Given the description of an element on the screen output the (x, y) to click on. 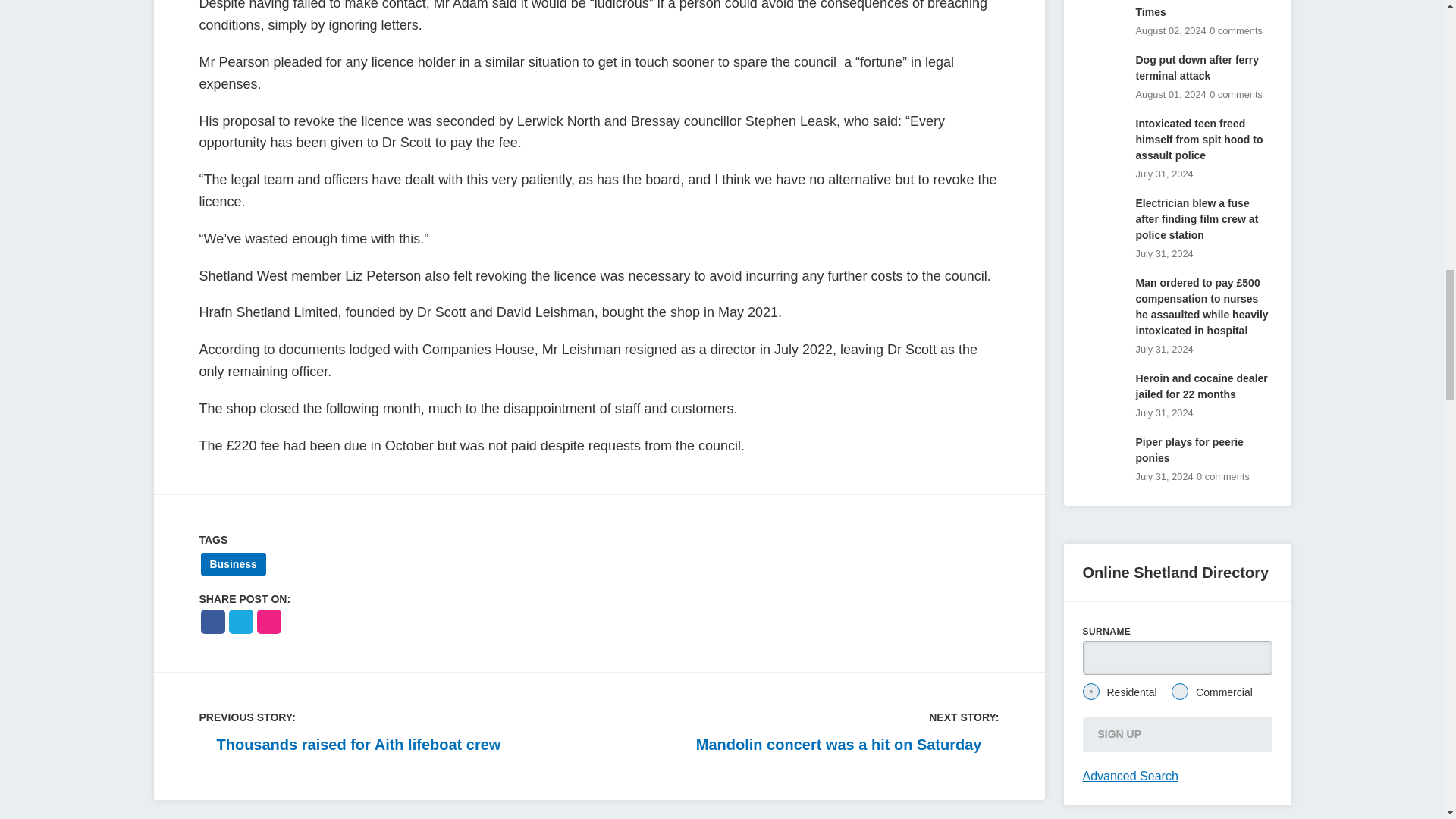
commercial (1180, 691)
Mandolin concert was a hit on Saturday (846, 744)
residential (1091, 691)
Business (232, 563)
Thousands raised for Aith lifeboat crew (349, 744)
